Given the description of an element on the screen output the (x, y) to click on. 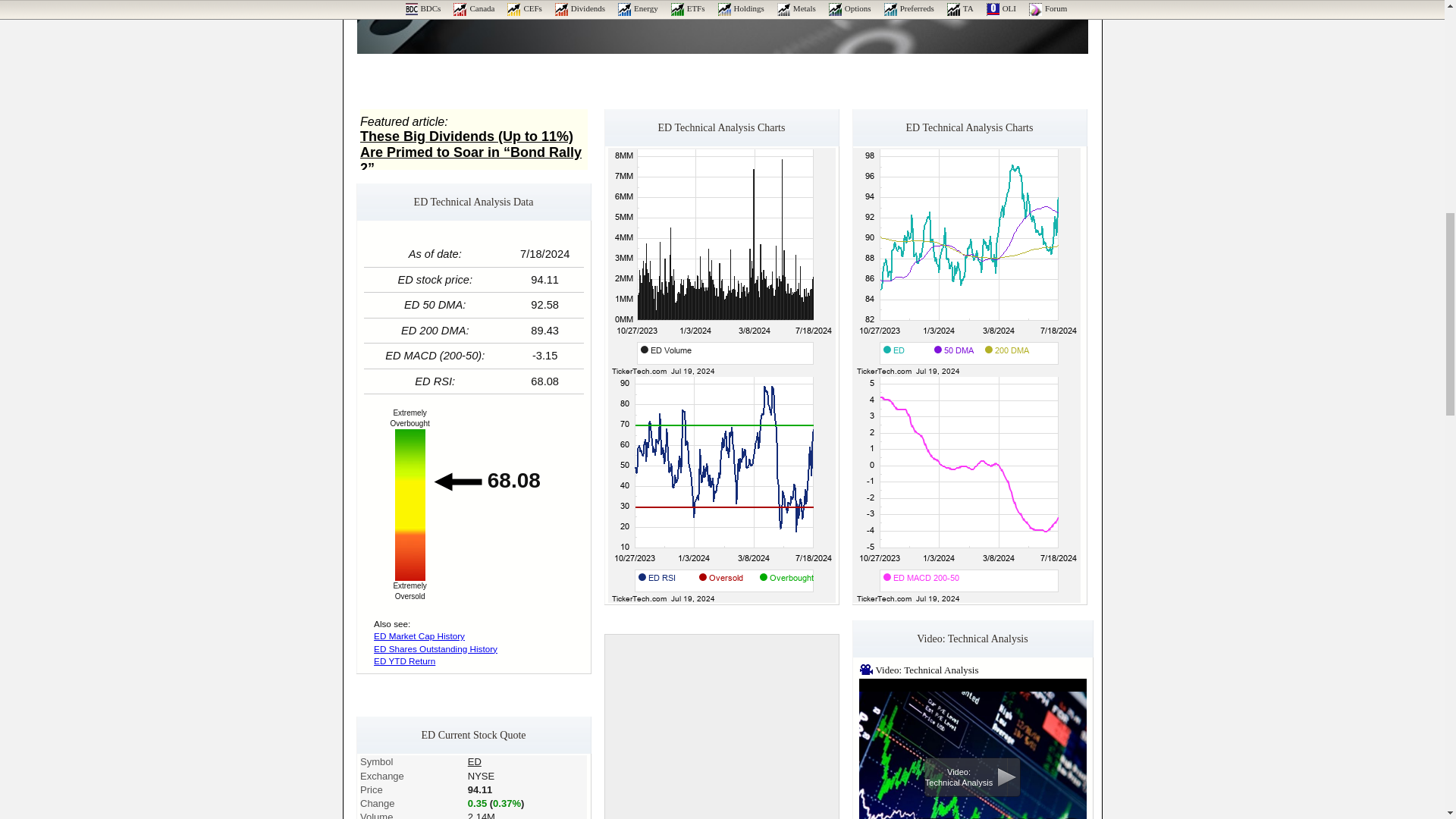
ED (474, 761)
ED Shares Outstanding History (435, 648)
ED YTD Return (404, 660)
ED Market Cap History (419, 635)
